Given the description of an element on the screen output the (x, y) to click on. 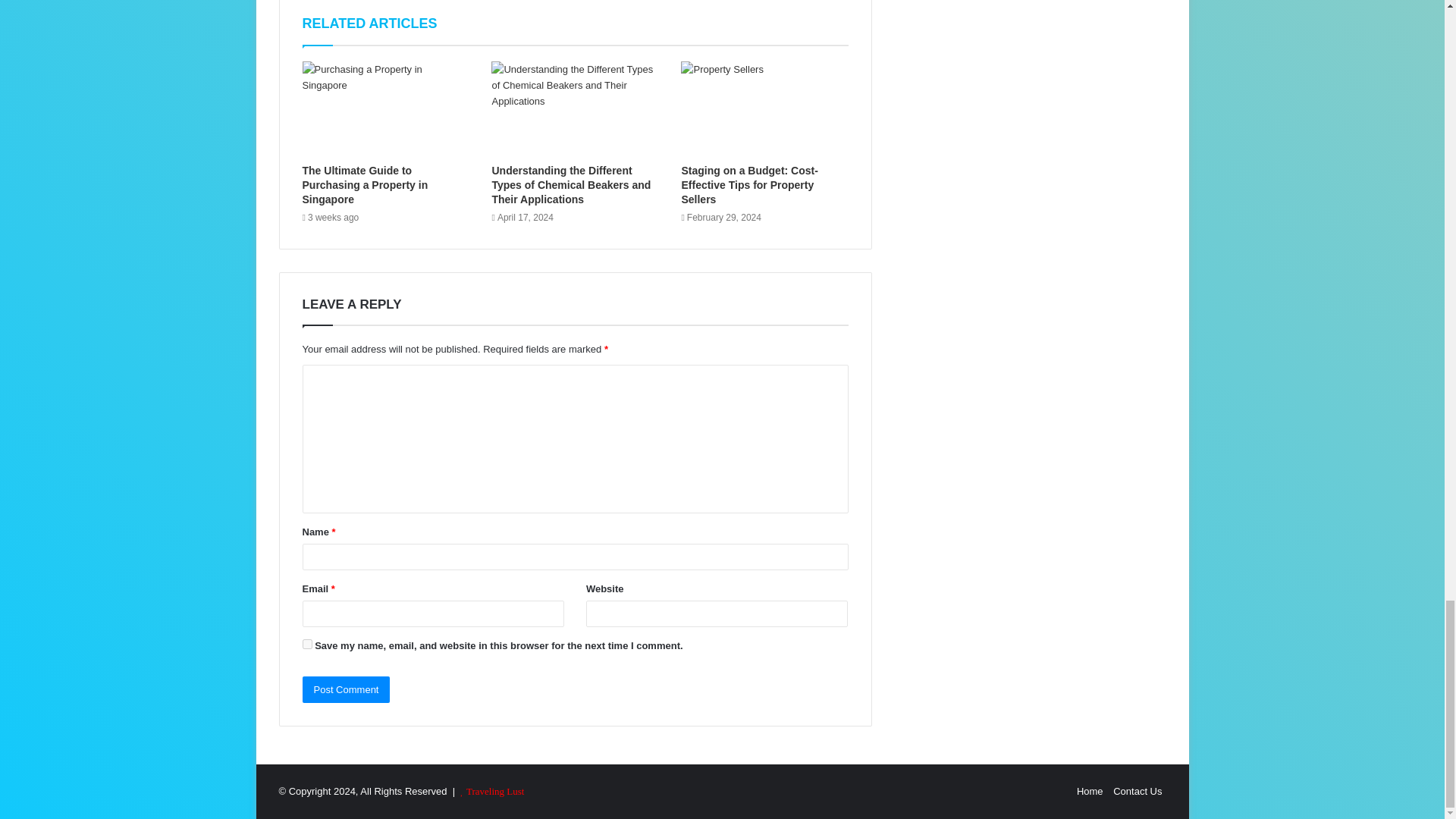
Post Comment (345, 689)
yes (306, 644)
The Ultimate Guide to Purchasing a Property in Singapore (364, 183)
